Given the description of an element on the screen output the (x, y) to click on. 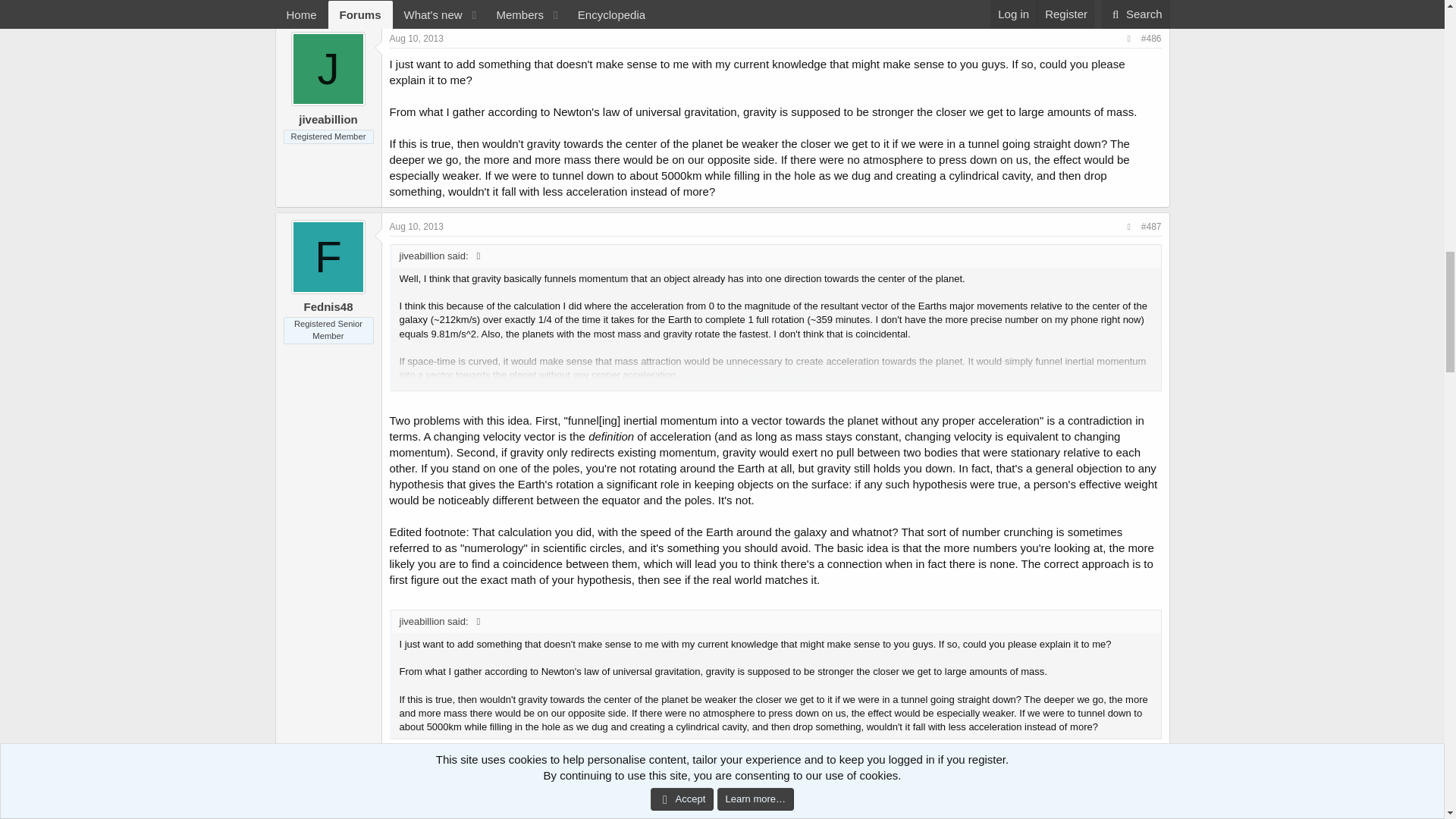
Aug 10, 2013 at 7:27 PM (417, 38)
Aug 10, 2013 at 7:41 PM (417, 226)
Aug 10, 2013 at 8:14 PM (417, 816)
